Given the description of an element on the screen output the (x, y) to click on. 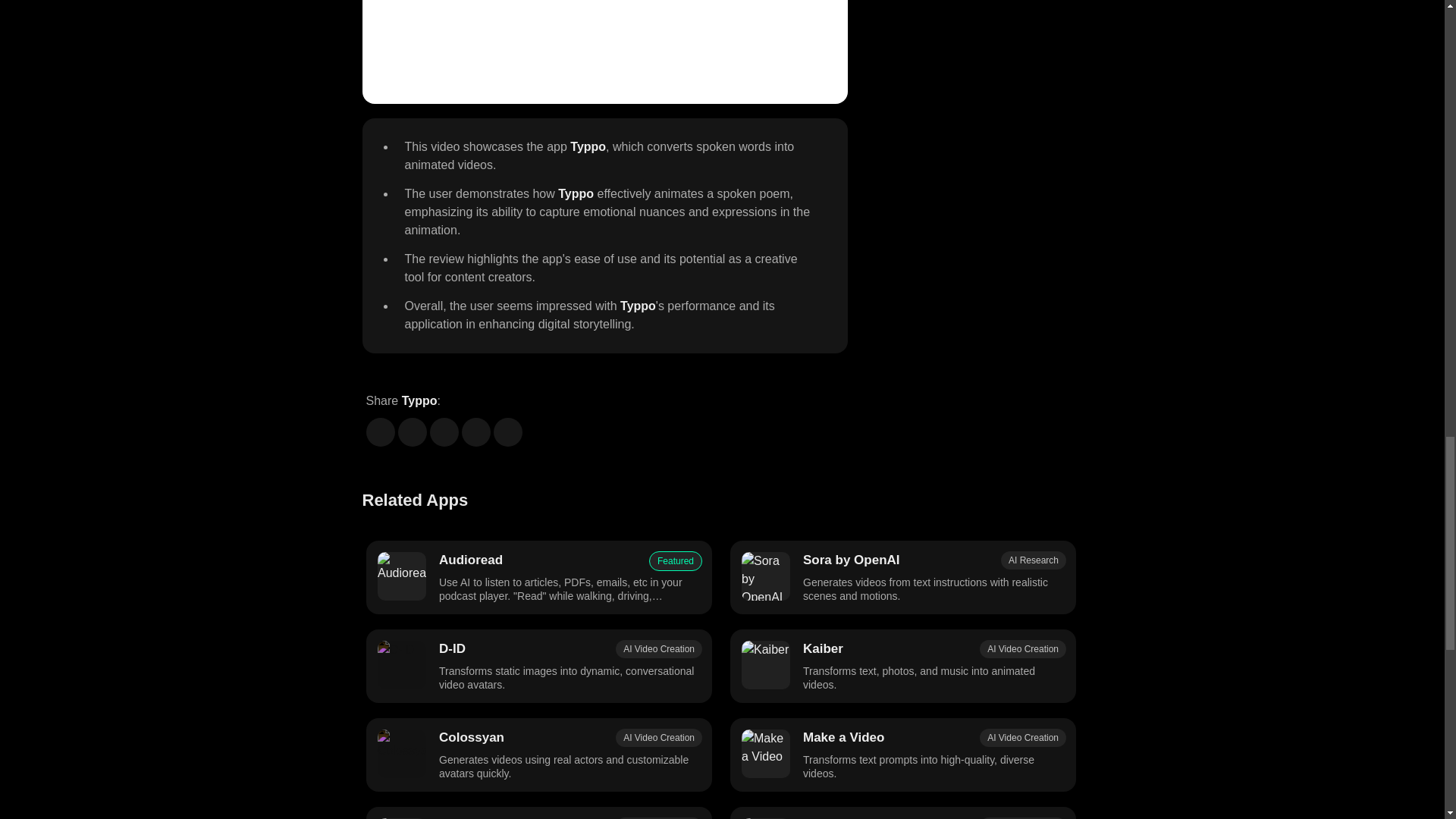
Share on WhatsApp (475, 431)
Share on Facebook (379, 431)
Copy Link (507, 431)
Share on LinkedIn (443, 431)
Share on X (411, 431)
